Given the description of an element on the screen output the (x, y) to click on. 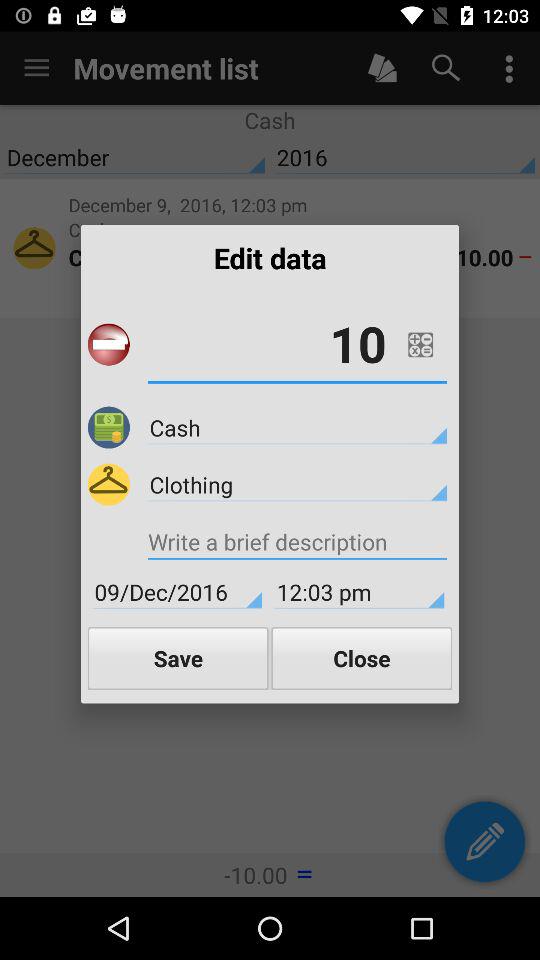
type a brief description (297, 544)
